Given the description of an element on the screen output the (x, y) to click on. 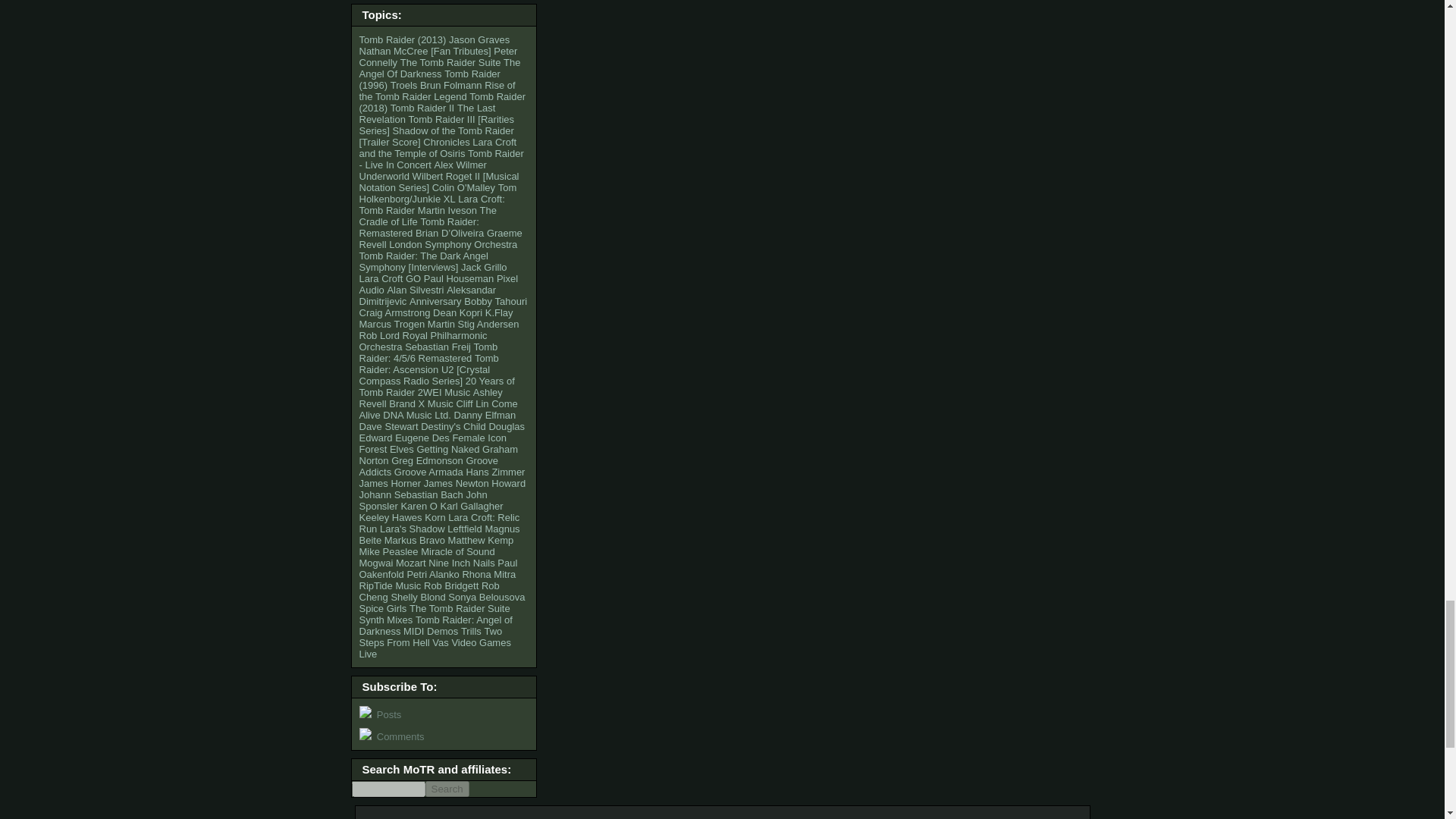
search (388, 788)
search (446, 788)
Search (446, 788)
Search (446, 788)
